Given the description of an element on the screen output the (x, y) to click on. 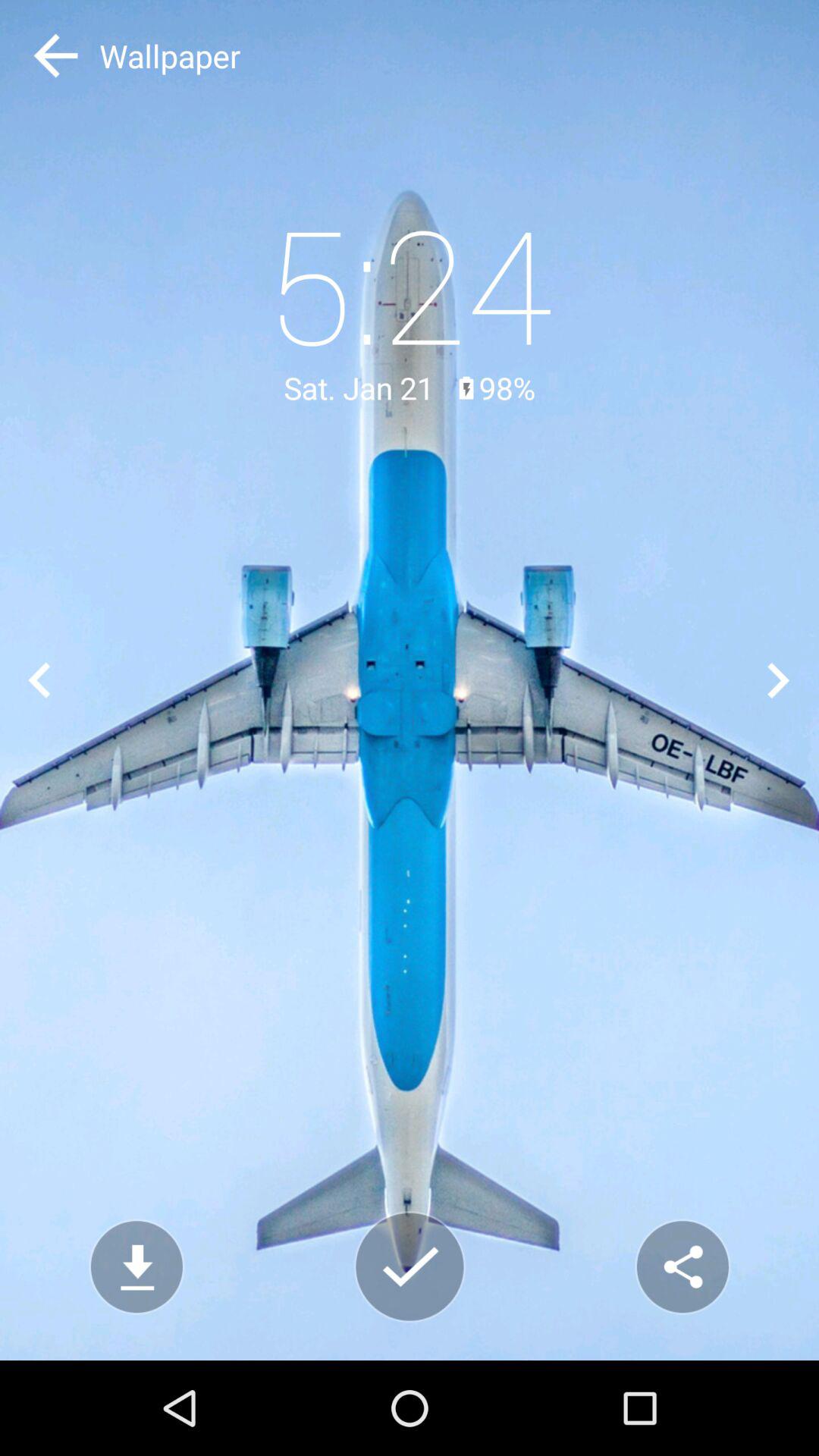
click to download (136, 1266)
